Given the description of an element on the screen output the (x, y) to click on. 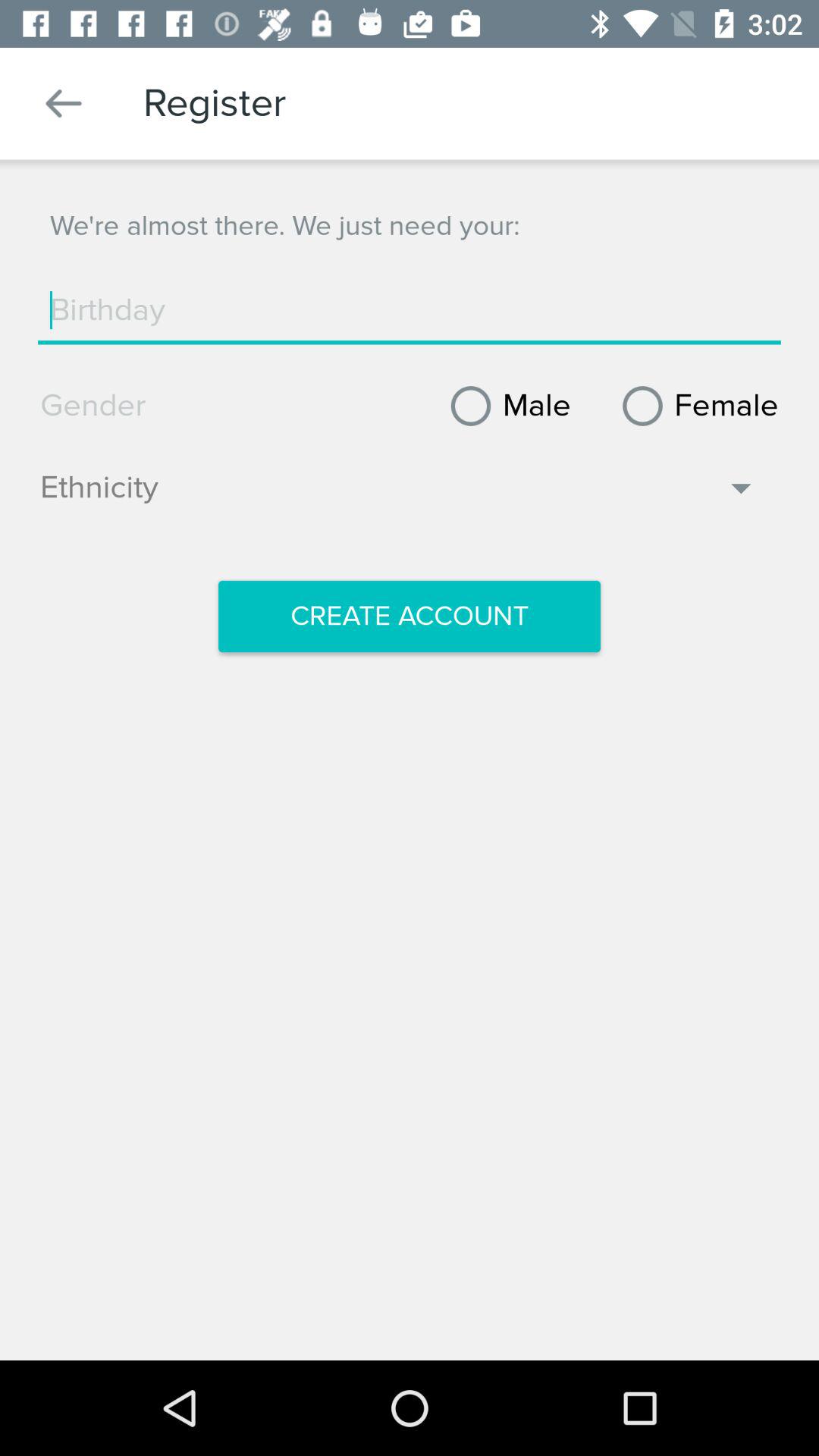
enter your ethnicity (399, 494)
